Given the description of an element on the screen output the (x, y) to click on. 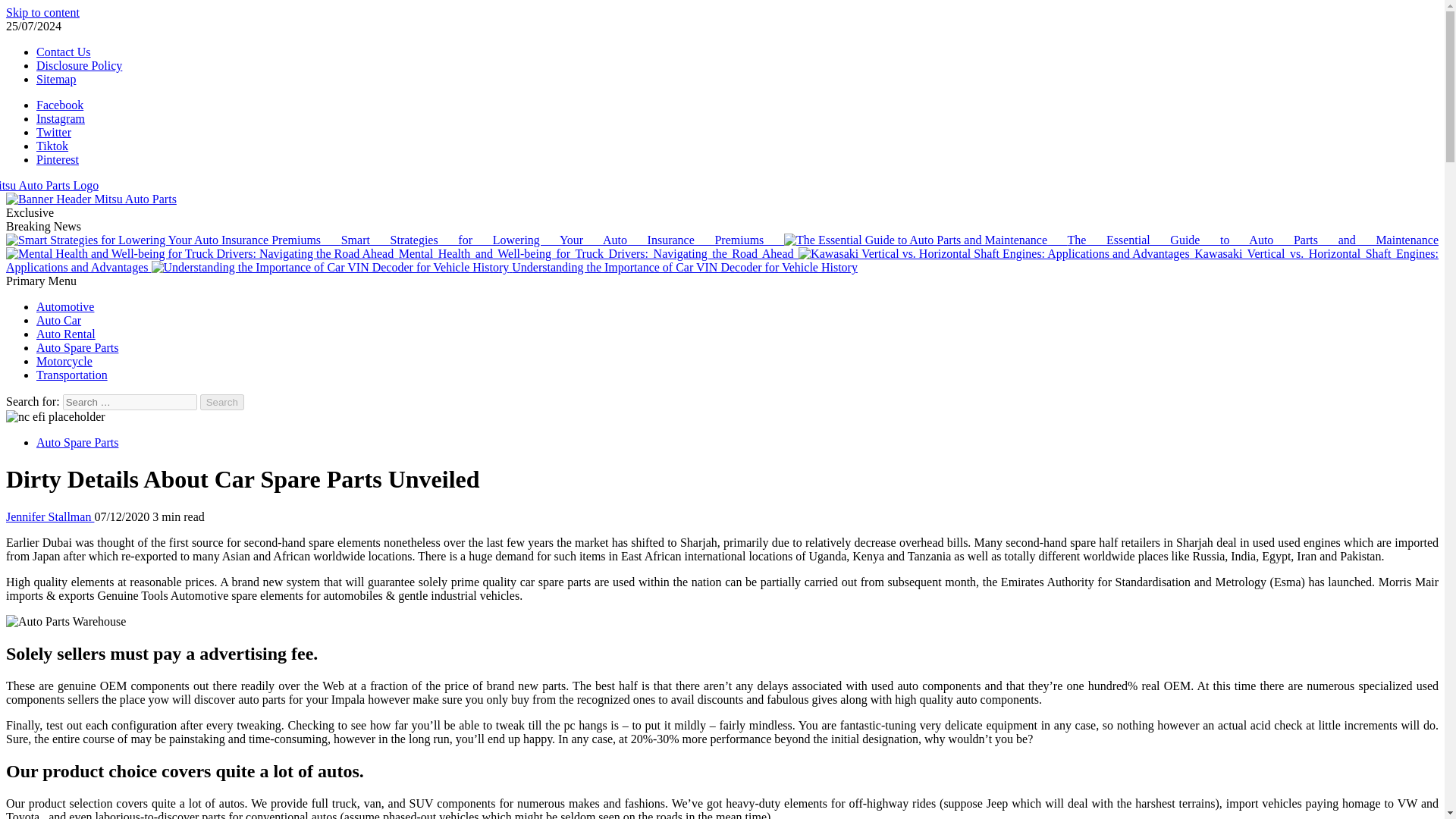
Search (222, 401)
Dirty Details About Car Spare Parts Unveiled 3 (65, 621)
Facebook (59, 104)
Auto Car (58, 319)
Pinterest (57, 159)
Auto Spare Parts (76, 441)
Jennifer Stallman (49, 516)
Transportation (71, 374)
Tiktok (52, 145)
Skip to content (42, 11)
Search (222, 401)
Instagram (60, 118)
Disclosure Policy (79, 65)
Contact Us (63, 51)
